Given the description of an element on the screen output the (x, y) to click on. 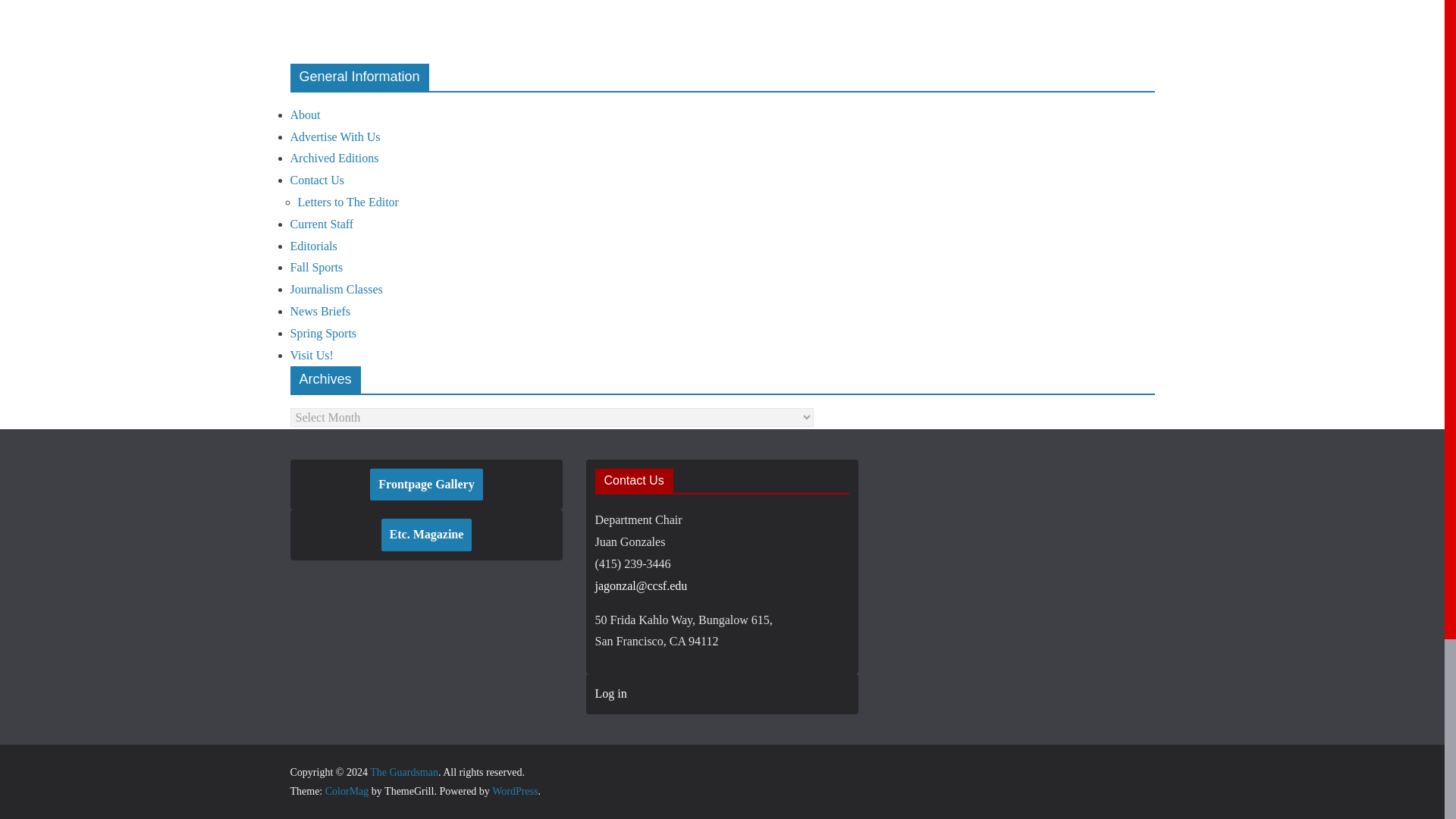
Editorials (312, 245)
Current Staff (321, 223)
The Guardsman (403, 772)
WordPress (514, 790)
About (304, 114)
Archived Editions (333, 157)
Advertise With Us (334, 136)
ColorMag (346, 790)
Contact Us (316, 179)
Letters to The Editor (347, 201)
